Given the description of an element on the screen output the (x, y) to click on. 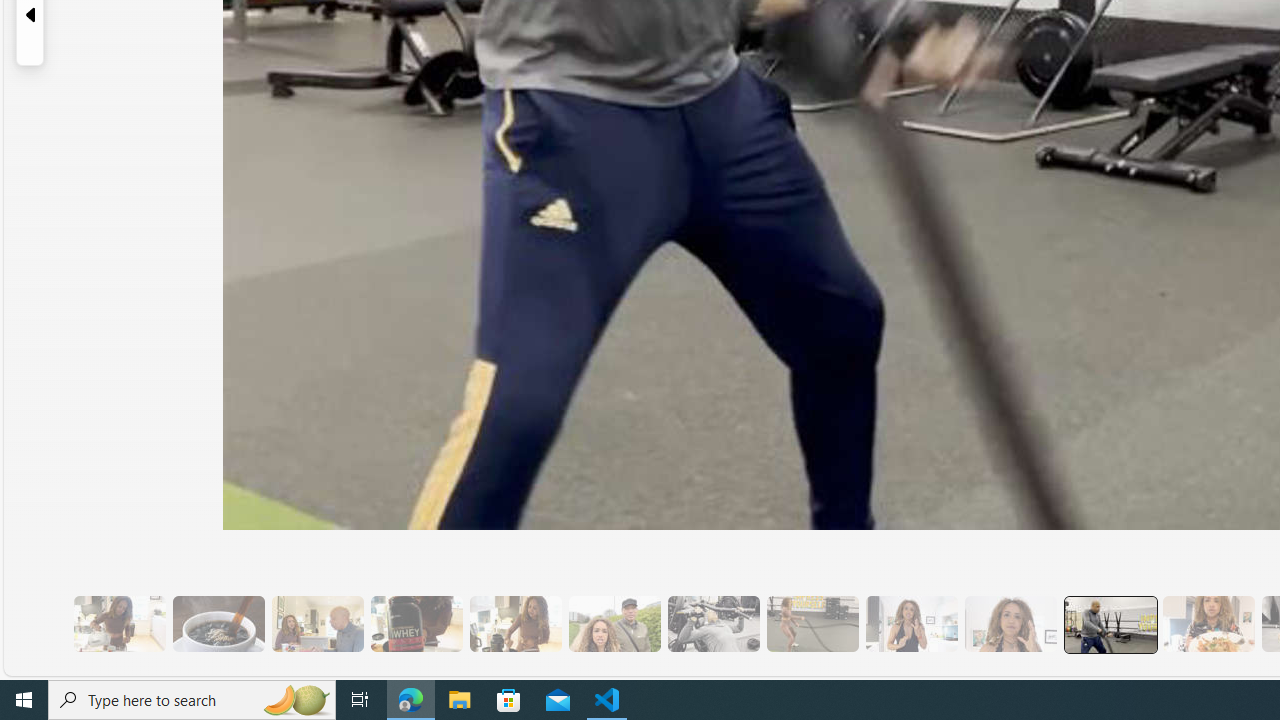
7 They Don't Skip Meals (514, 624)
6 Since Eating More Protein Her Training Has Improved (416, 624)
14 They Have Salmon and Veggies for Dinner (1208, 624)
7 They Don't Skip Meals (514, 624)
8 Be Mindful of Coffee (217, 624)
3 They Drink Lemon Tea (119, 624)
13 Her Husband Does Group Cardio Classs (1110, 624)
5 She Eats Less Than Her Husband (317, 624)
9 They Do Bench Exercises (713, 624)
